Given the description of an element on the screen output the (x, y) to click on. 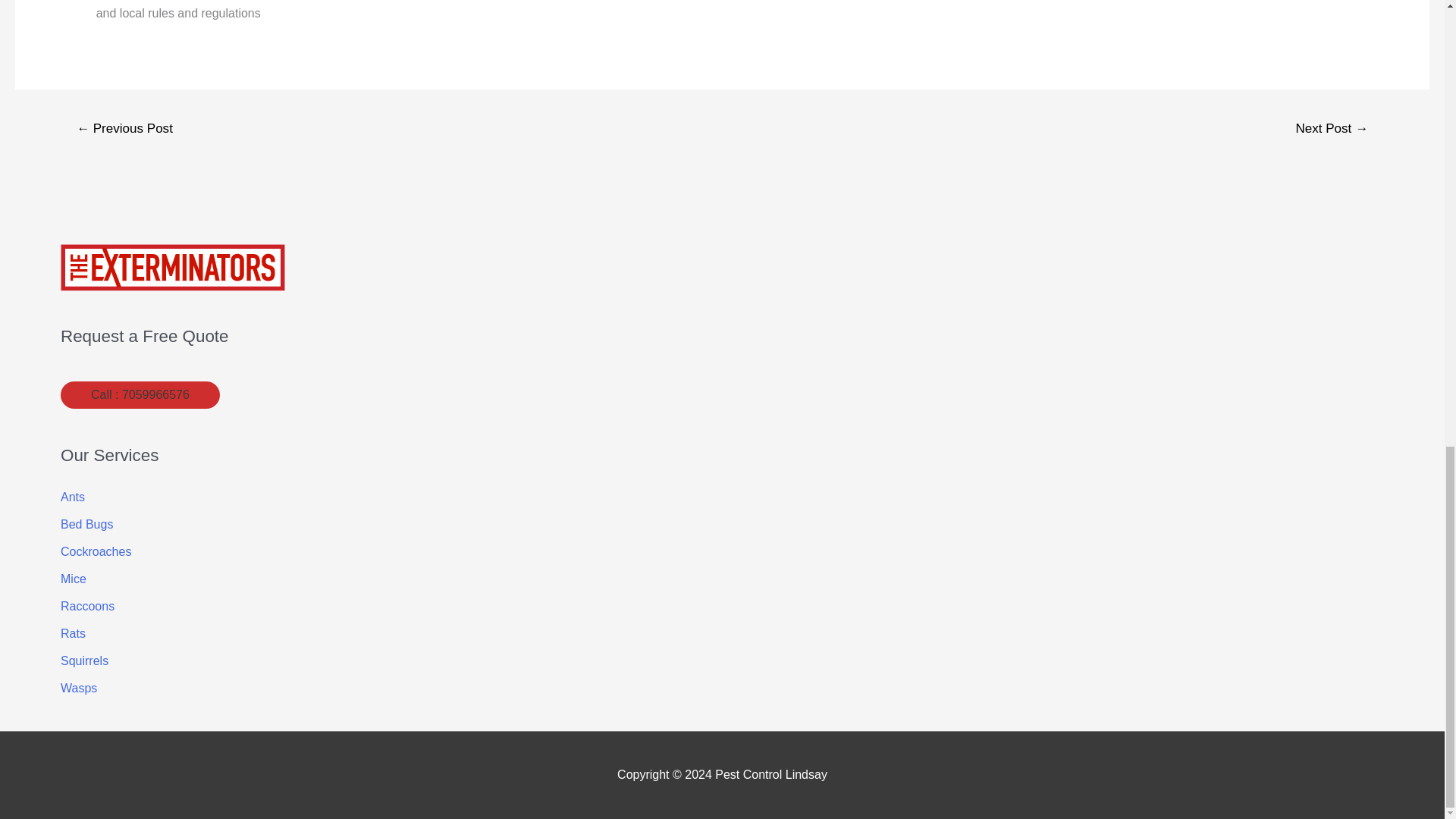
Wasps (79, 687)
Ants (72, 496)
Cockroaches (96, 551)
Call : 7059966576 (140, 394)
Mice (73, 578)
Squirrels (84, 660)
Raccoons (88, 605)
Bed Bugs (87, 523)
Rats (73, 633)
